Given the description of an element on the screen output the (x, y) to click on. 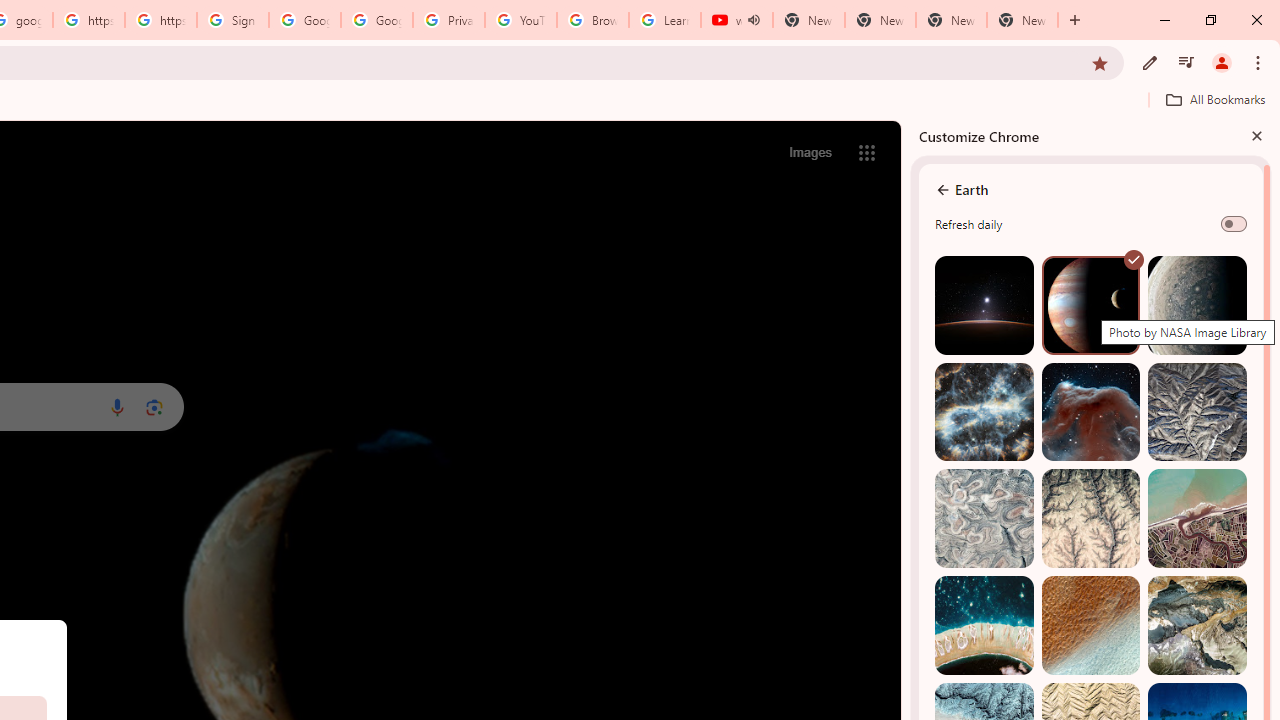
Kelan, Shanxi, China (1197, 412)
